Given the description of an element on the screen output the (x, y) to click on. 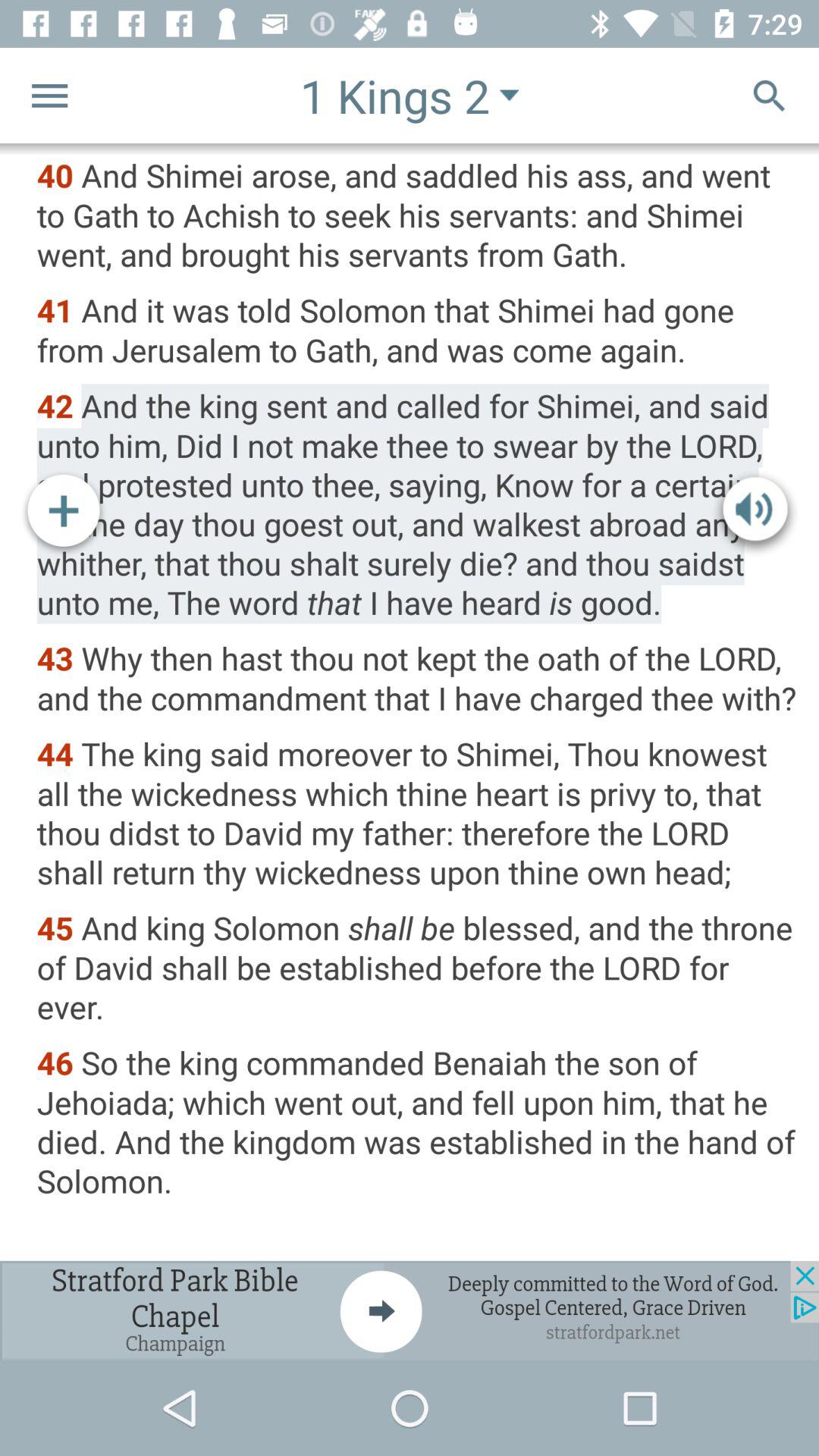
menu button (49, 95)
